Given the description of an element on the screen output the (x, y) to click on. 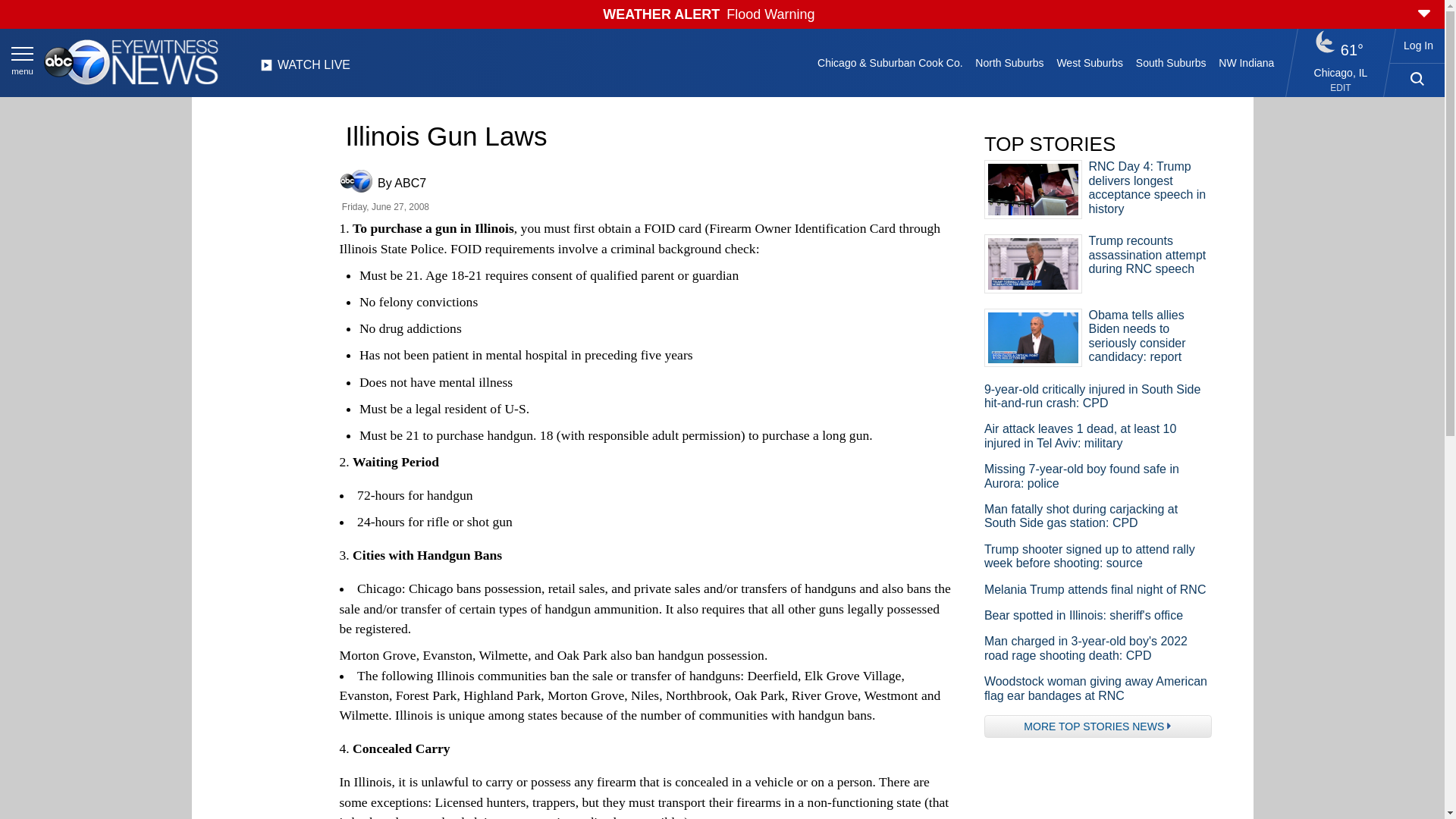
West Suburbs (1089, 62)
EDIT (1340, 87)
NW Indiana (1246, 62)
South Suburbs (1170, 62)
North Suburbs (1009, 62)
WATCH LIVE (305, 69)
Chicago, IL (1340, 72)
